Given the description of an element on the screen output the (x, y) to click on. 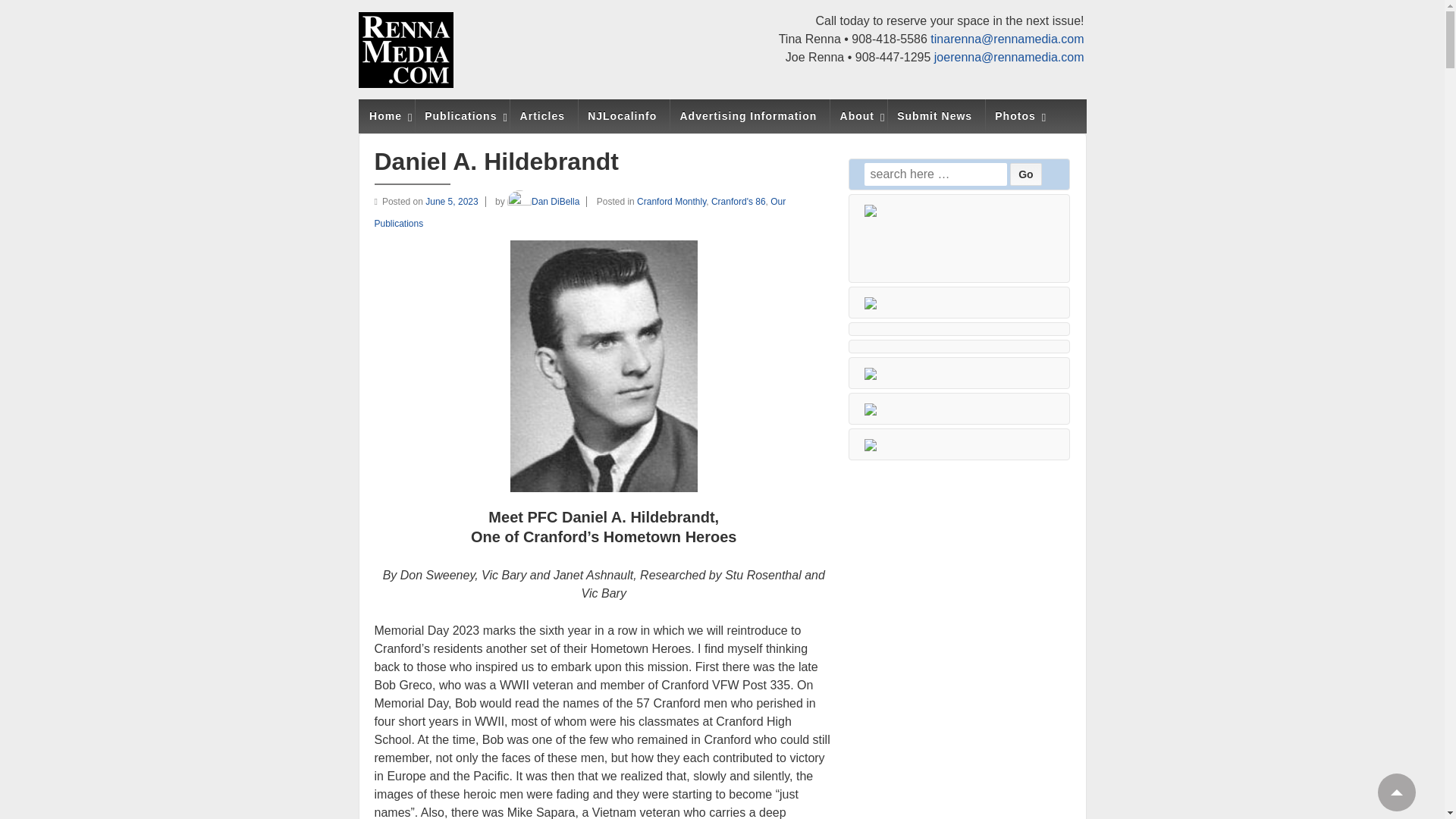
NJLocalinfo (622, 116)
Publications (460, 116)
About (856, 116)
Daniel A. Hildebrandt (454, 201)
Submit News (933, 116)
Home (384, 116)
Go (1025, 173)
Scroll to Top (1396, 792)
Advertising Information (748, 116)
Articles (542, 116)
